Given the description of an element on the screen output the (x, y) to click on. 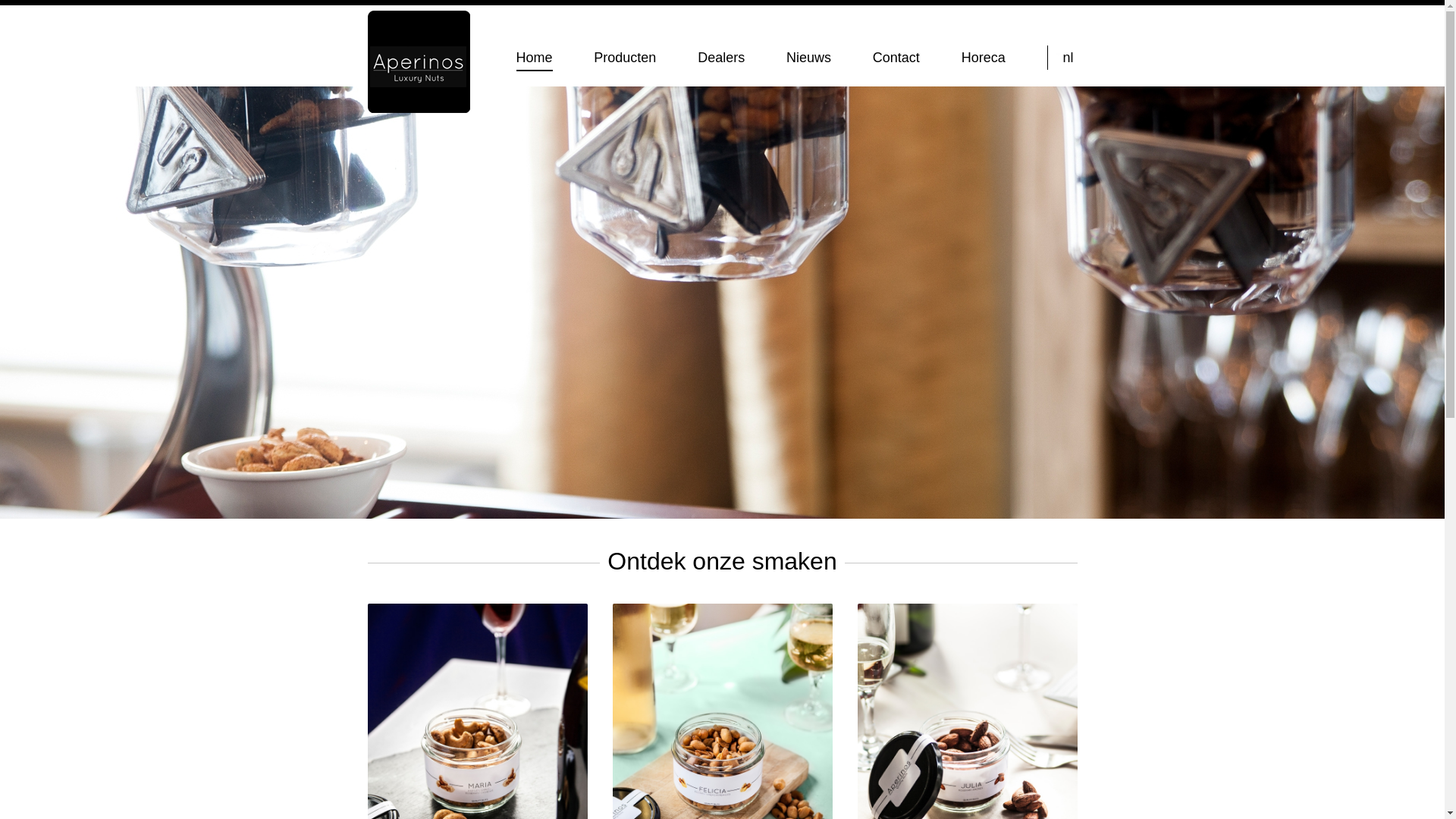
Nieuws Element type: text (808, 57)
Dealers Element type: text (720, 57)
Contact Element type: text (895, 57)
Home Element type: text (533, 58)
nl Element type: text (1068, 57)
Producten Element type: text (624, 57)
Horeca Element type: text (983, 57)
